Given the description of an element on the screen output the (x, y) to click on. 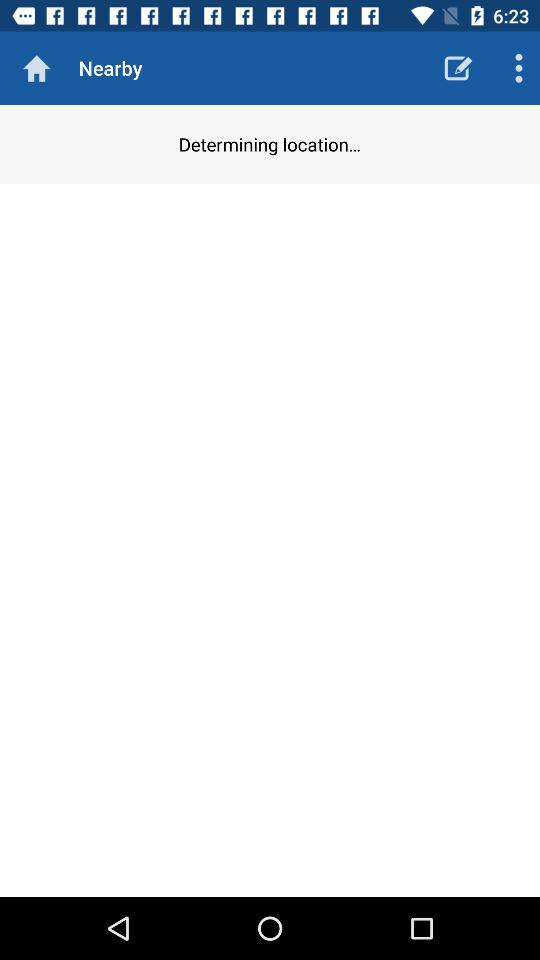
click the item next to nearby (458, 67)
